Given the description of an element on the screen output the (x, y) to click on. 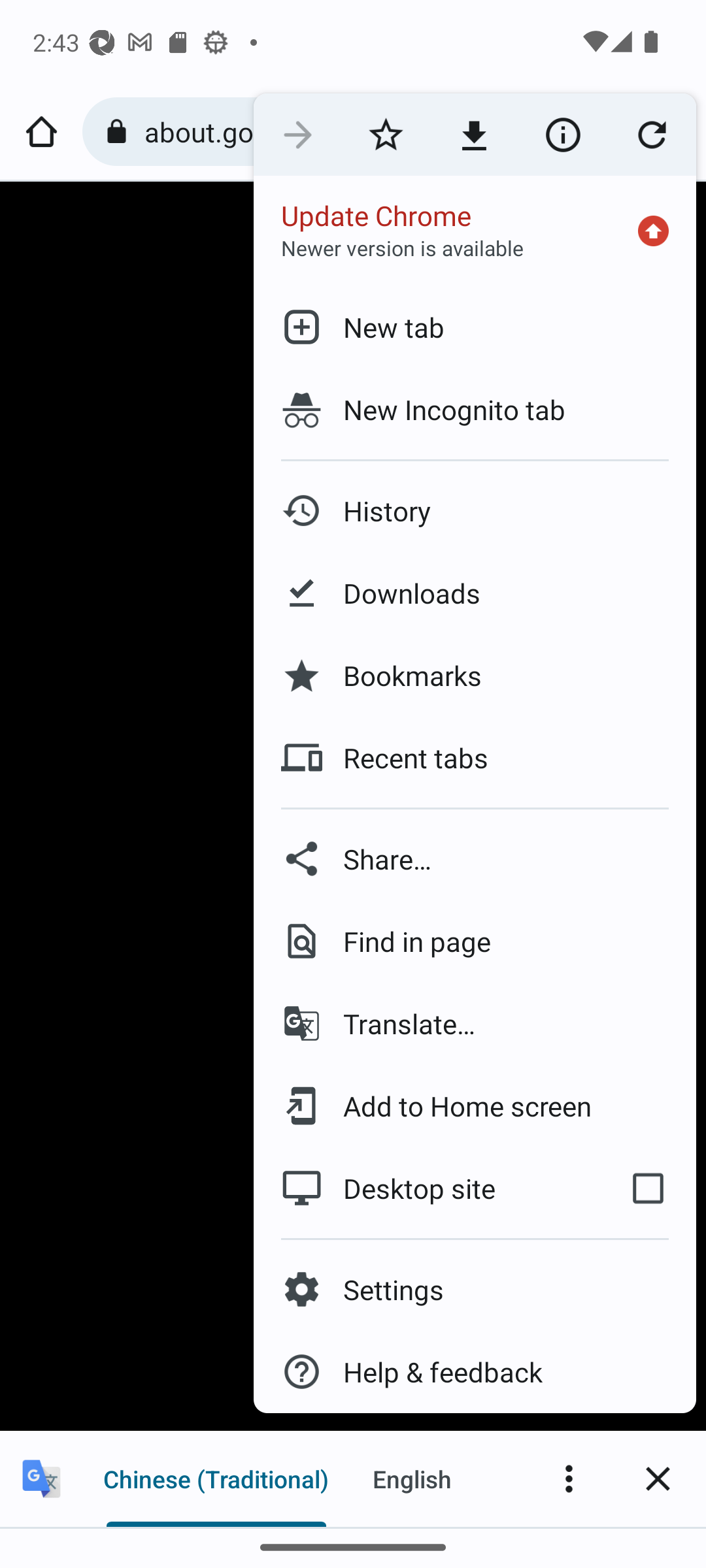
Forward (297, 134)
Bookmark (385, 134)
Download (473, 134)
Page info (562, 134)
Stop refreshing (651, 134)
New tab (474, 326)
New Incognito tab (474, 409)
History (474, 510)
Downloads (474, 593)
Bookmarks (474, 675)
Recent tabs (474, 757)
Share… (474, 859)
Find in page (474, 941)
Translate… (474, 1023)
Add to Home screen (474, 1105)
Desktop site Turn on Request desktop site (426, 1188)
Settings (474, 1289)
Help & feedback (474, 1371)
